Given the description of an element on the screen output the (x, y) to click on. 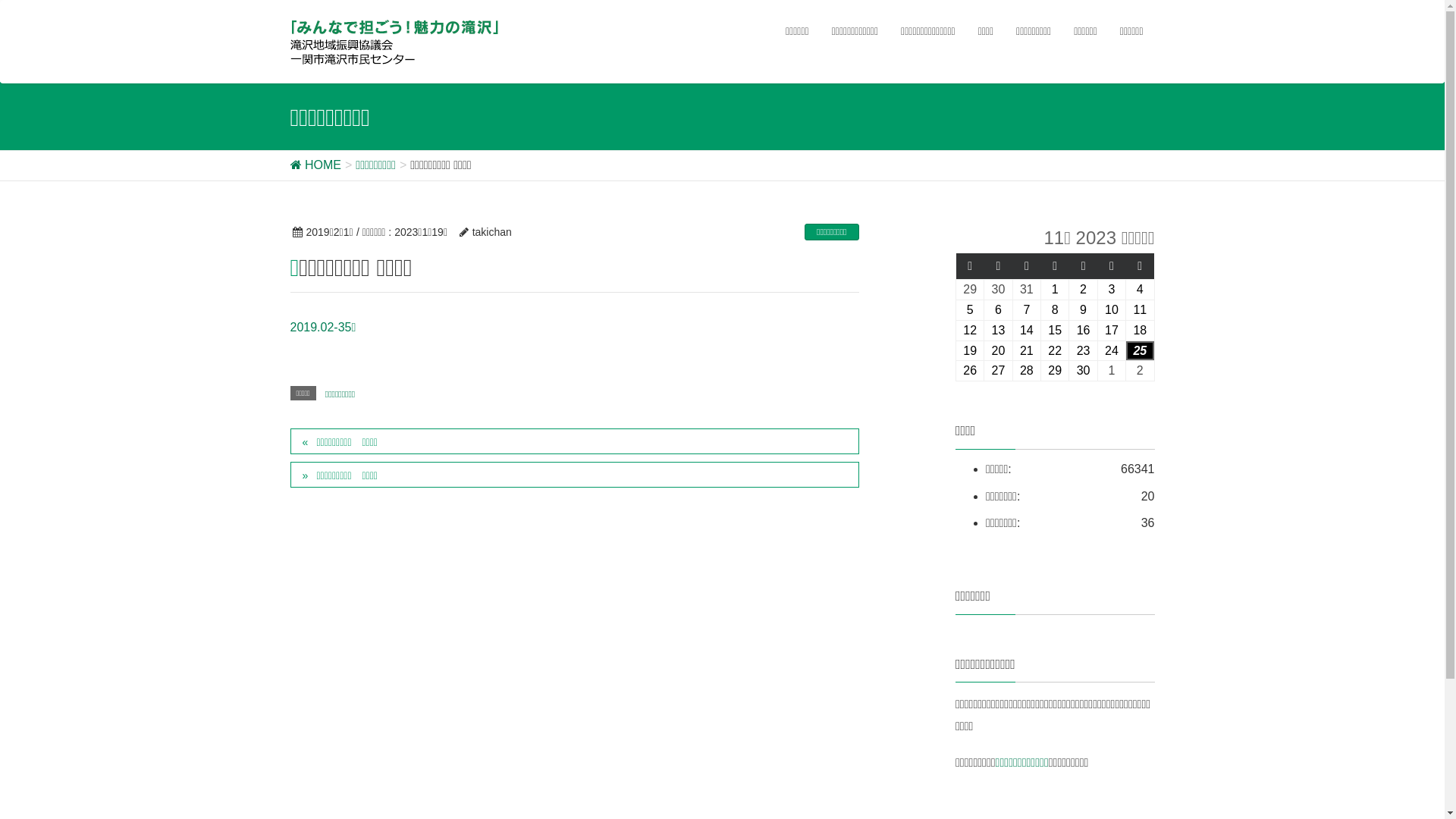
HOME Element type: text (314, 164)
